Given the description of an element on the screen output the (x, y) to click on. 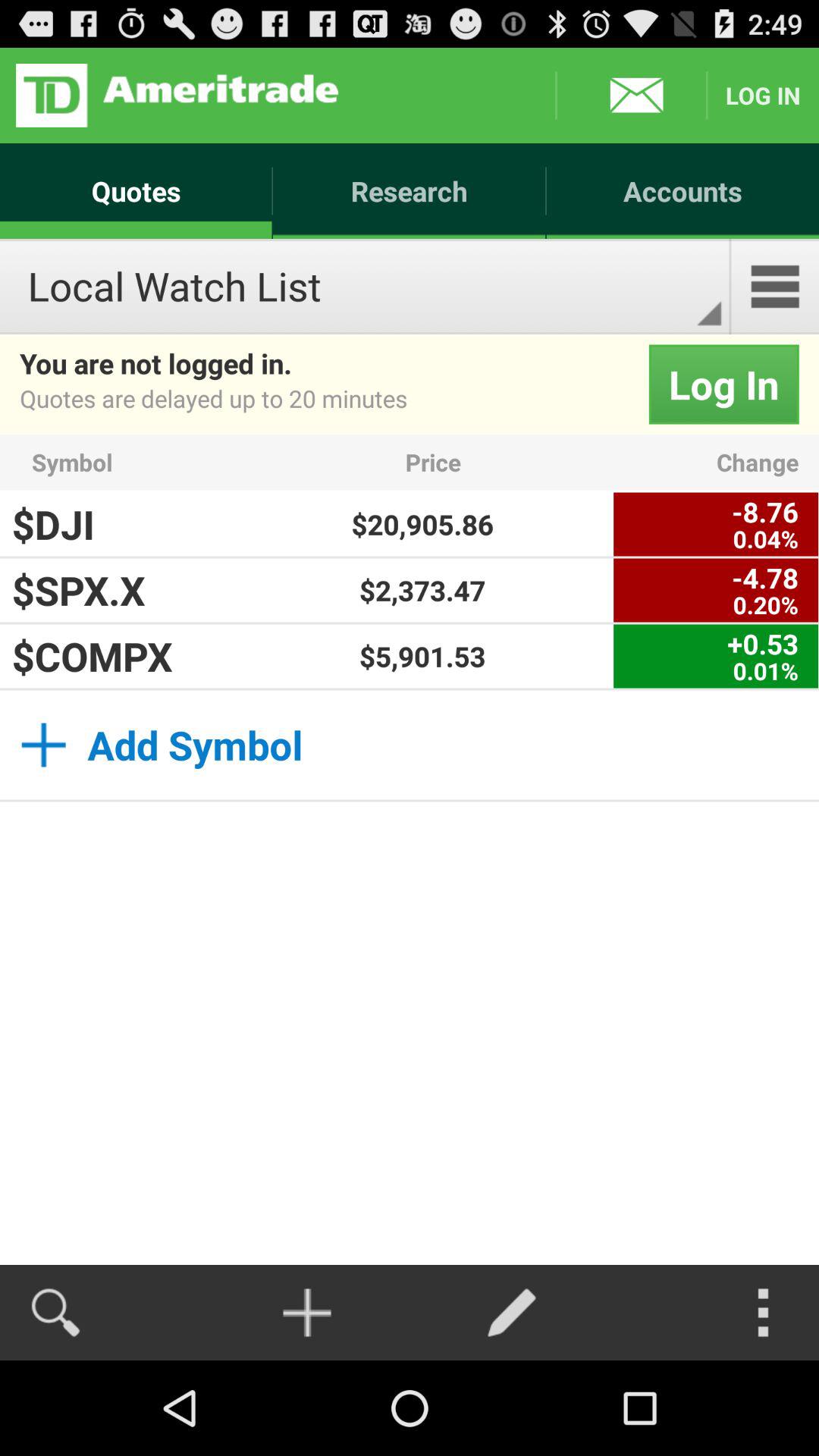
open item below the change icon (715, 524)
